Given the description of an element on the screen output the (x, y) to click on. 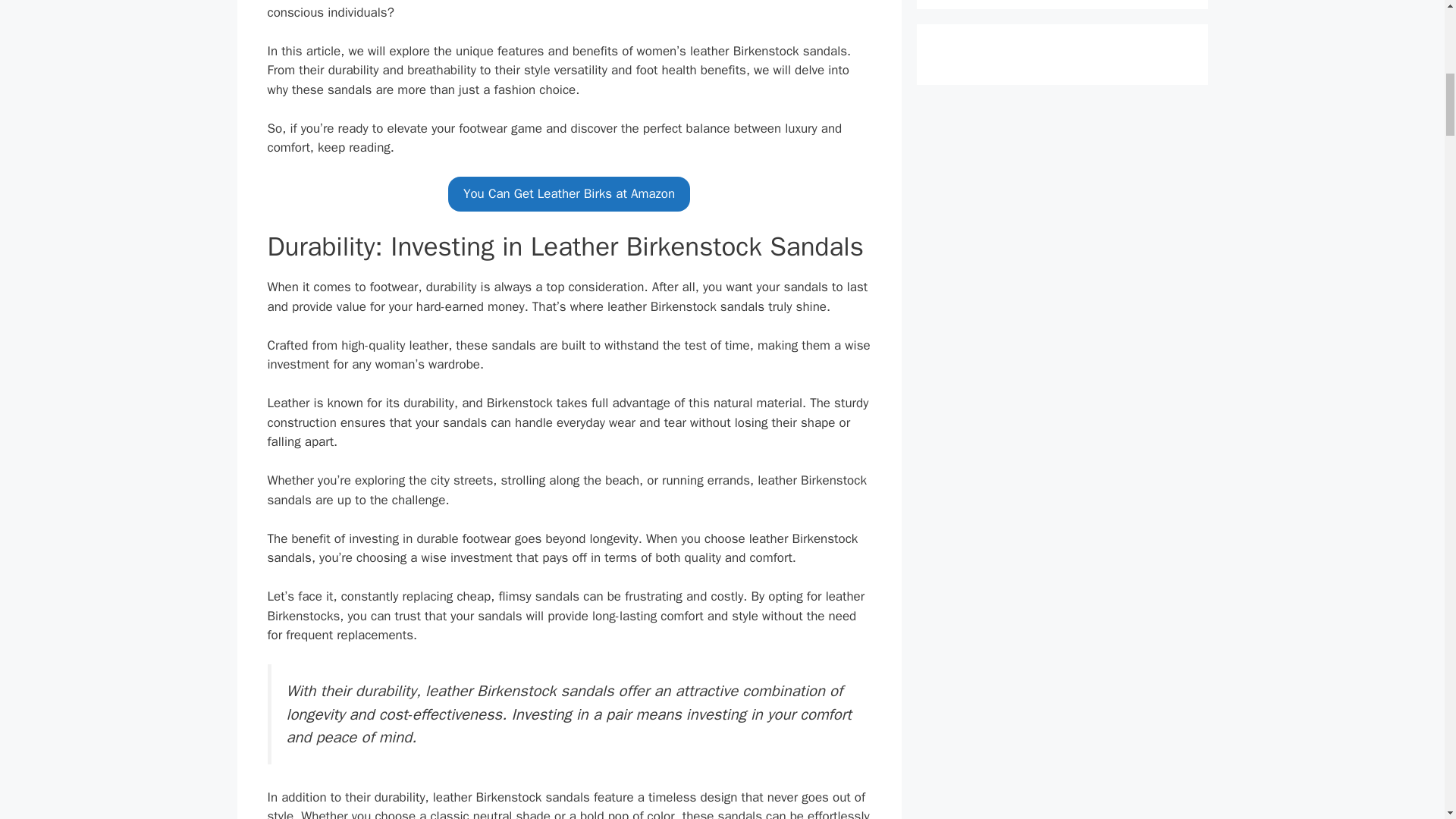
You Can Get Leather Birks at Amazon (569, 193)
